Given the description of an element on the screen output the (x, y) to click on. 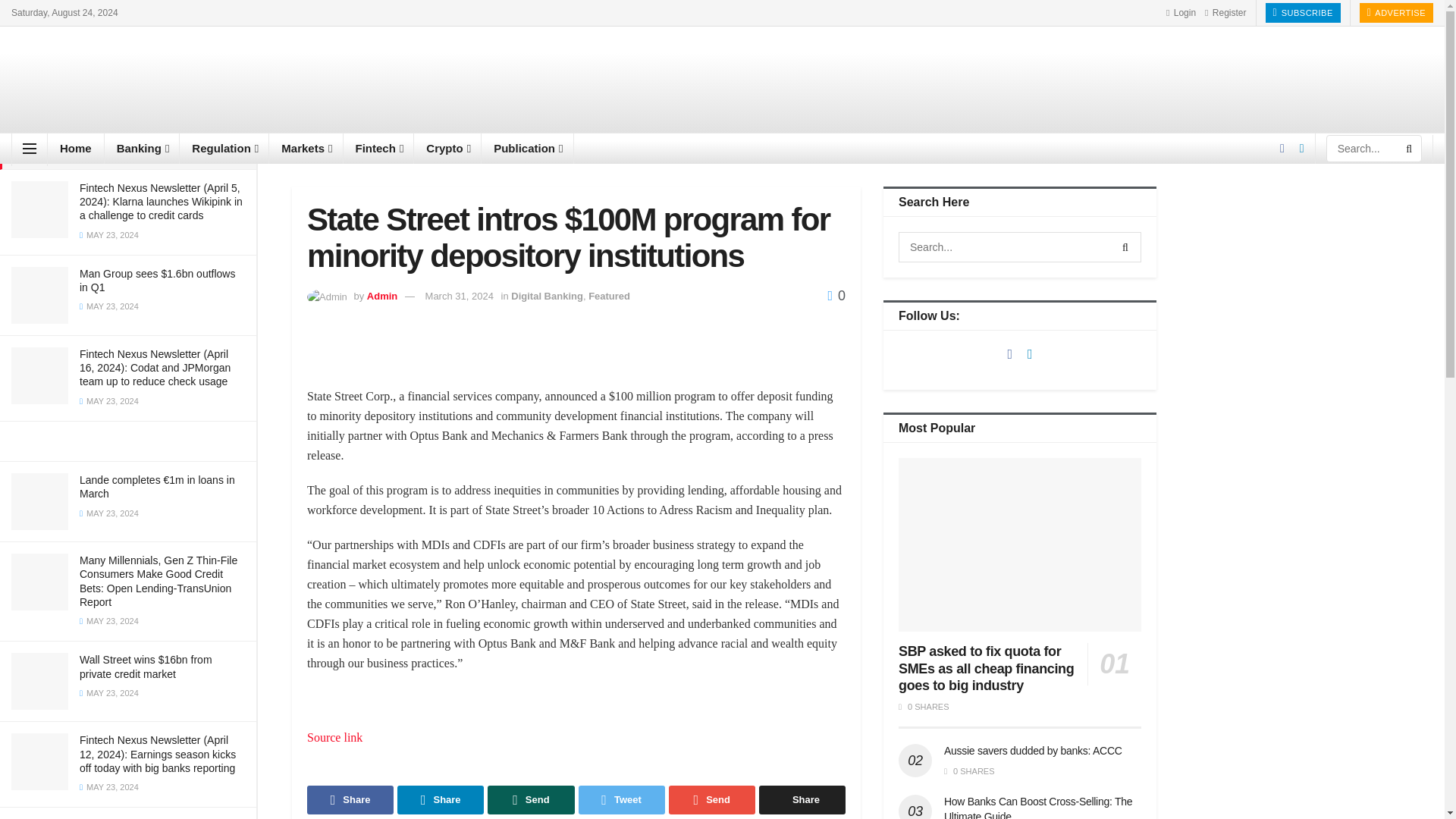
SUBSCRIBE (1302, 12)
Login (1180, 12)
Register (1225, 12)
Filter (227, 13)
ADVERTISE (1395, 12)
